Given the description of an element on the screen output the (x, y) to click on. 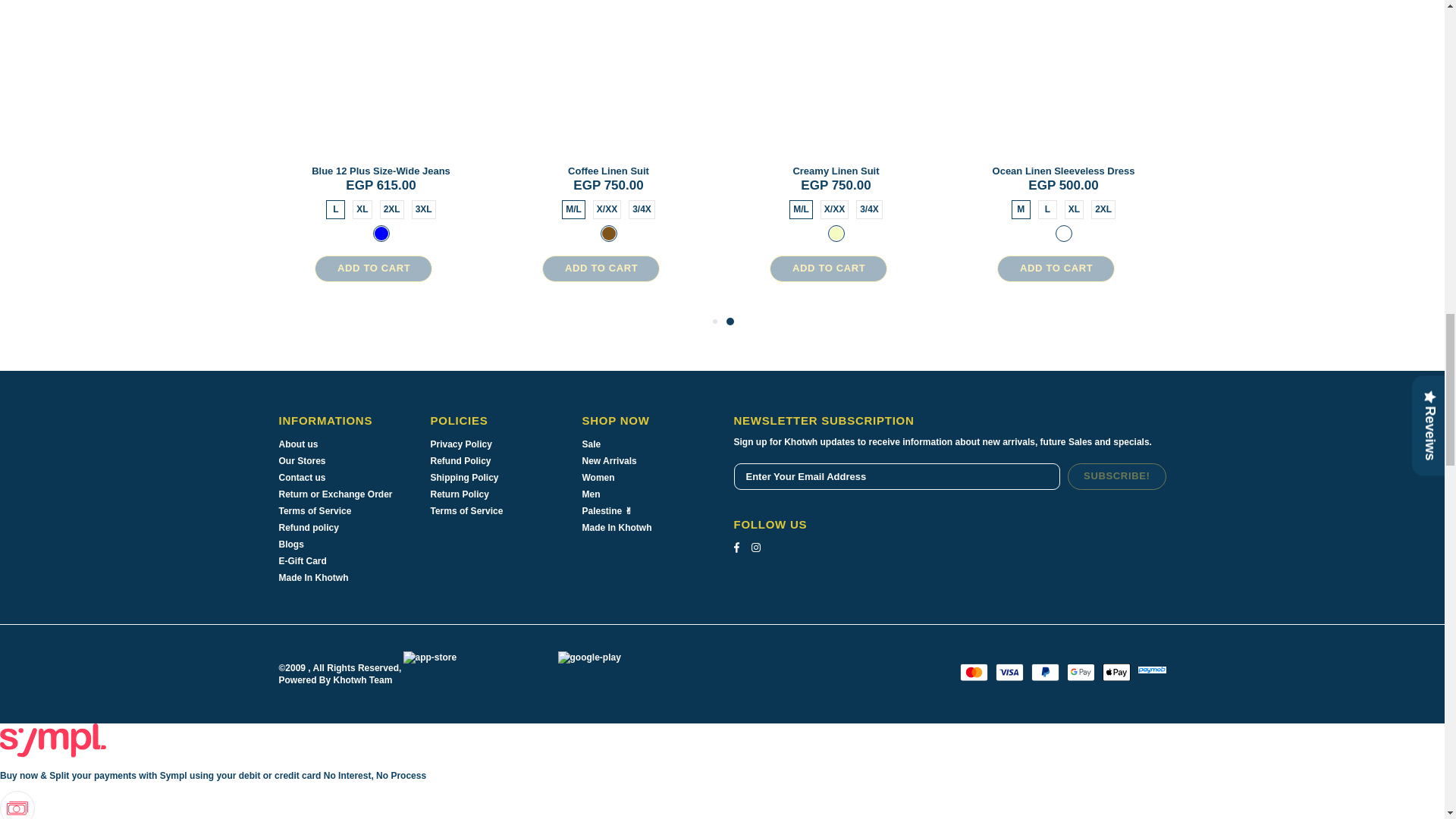
SUBSCRIBE! (1116, 476)
